Given the description of an element on the screen output the (x, y) to click on. 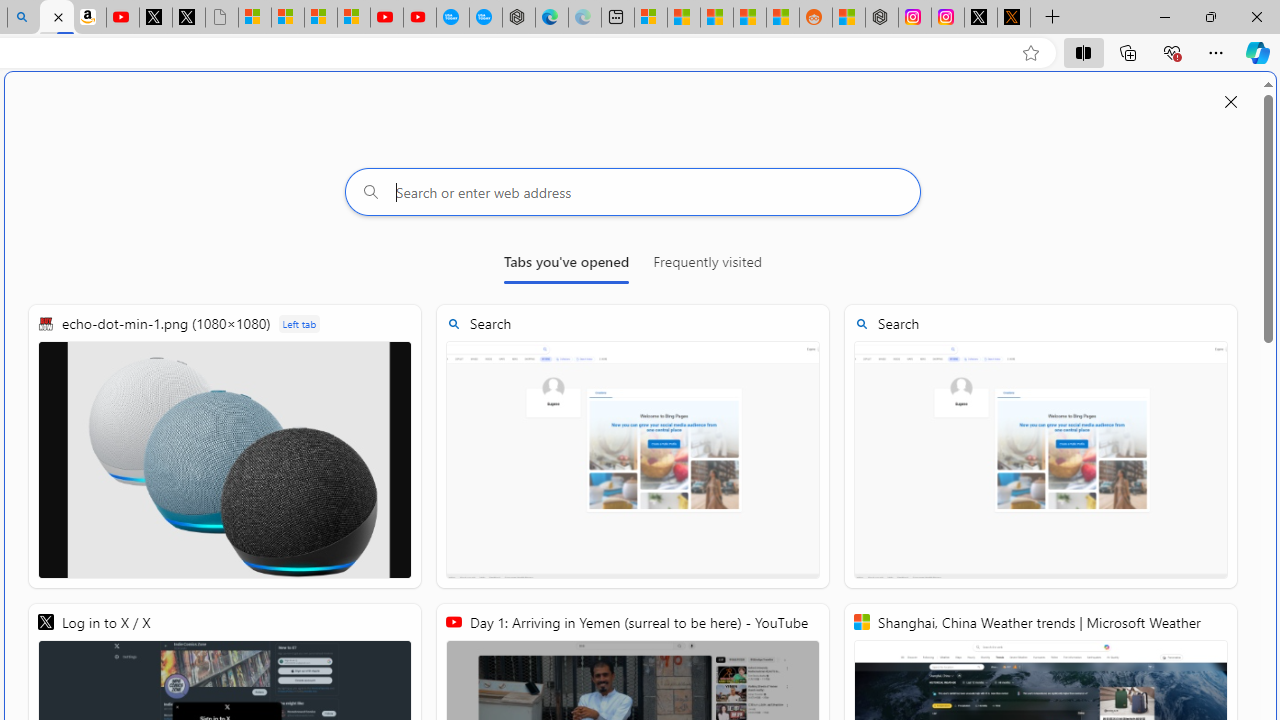
Shanghai, China hourly forecast | Microsoft Weather (717, 17)
Close split screen (1231, 102)
Log in to X / X (981, 17)
The most popular Google 'how to' searches (485, 17)
